Given the description of an element on the screen output the (x, y) to click on. 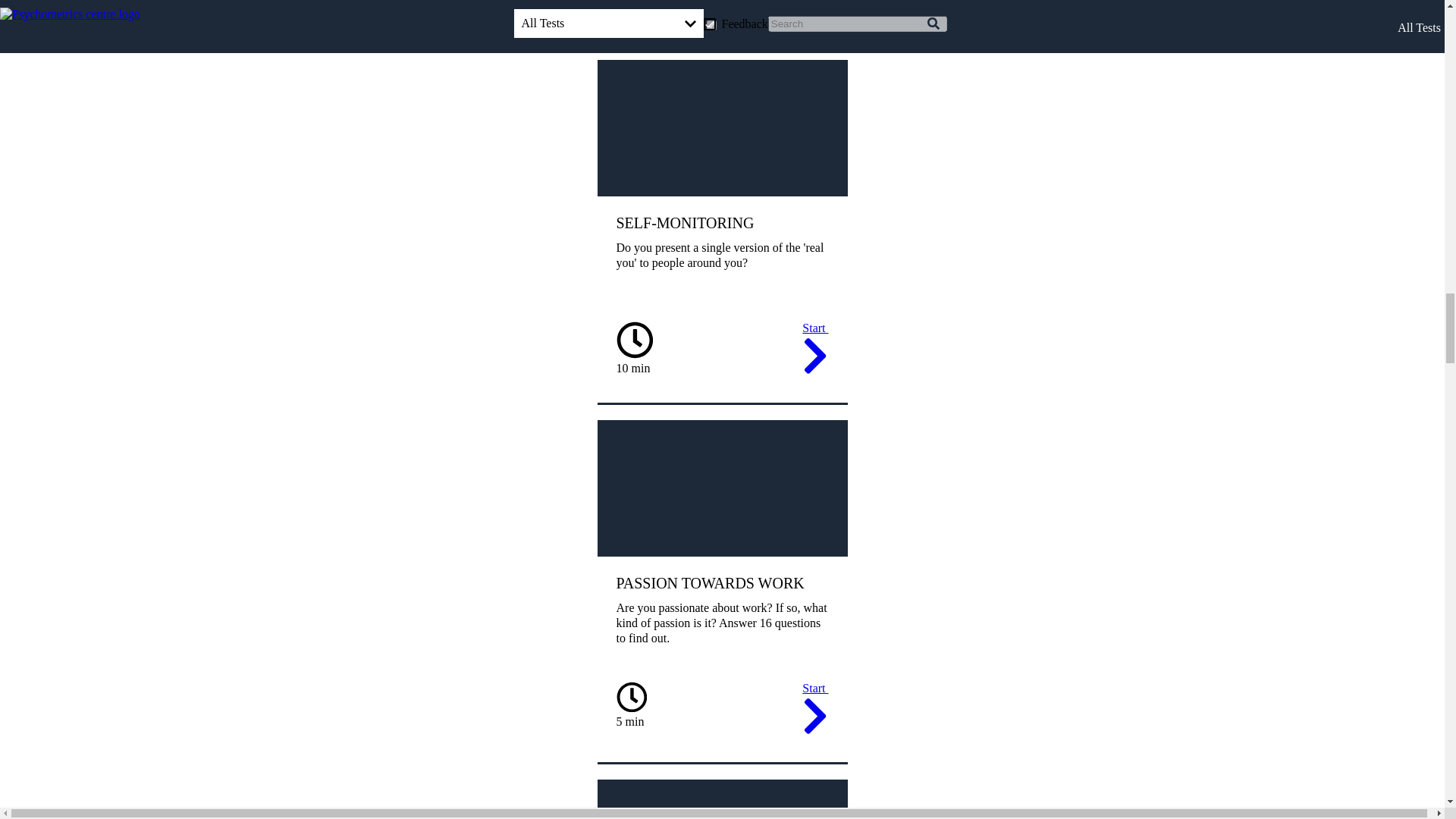
Start  (815, 9)
Start  (815, 709)
Start  (815, 350)
